Given the description of an element on the screen output the (x, y) to click on. 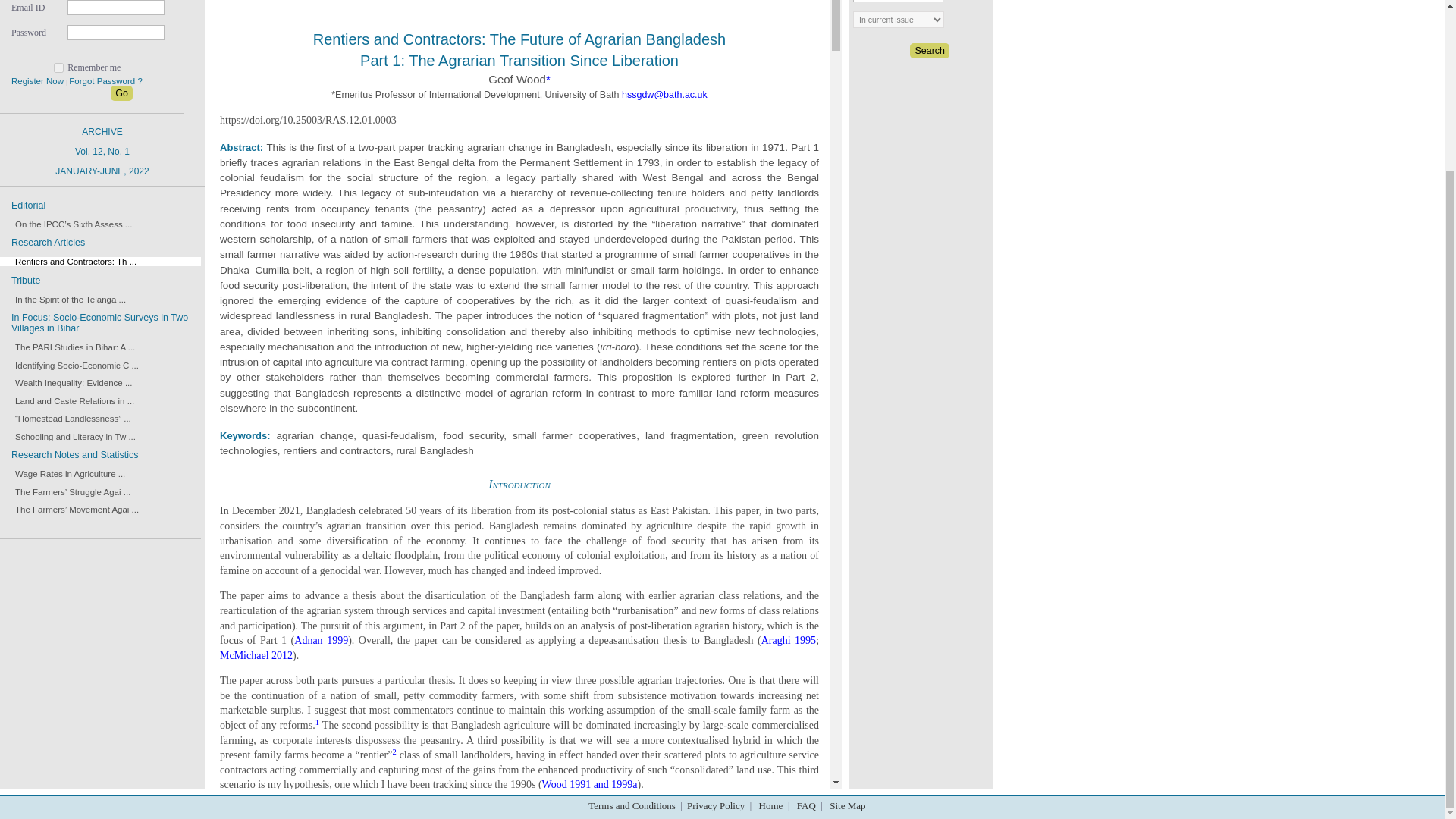
In the Spirit of the Telanga ... (66, 298)
McMichael 2012 (71, 347)
Search (255, 655)
Araghi 1995 (929, 50)
The PARI Studies in Bihar: A ... (788, 640)
Wealth Inequality: Evidence ... (71, 347)
Schooling and Literacy in Tw ... (69, 382)
Forgot Password ? (71, 436)
Register Now (105, 80)
Go (66, 473)
